Given the description of an element on the screen output the (x, y) to click on. 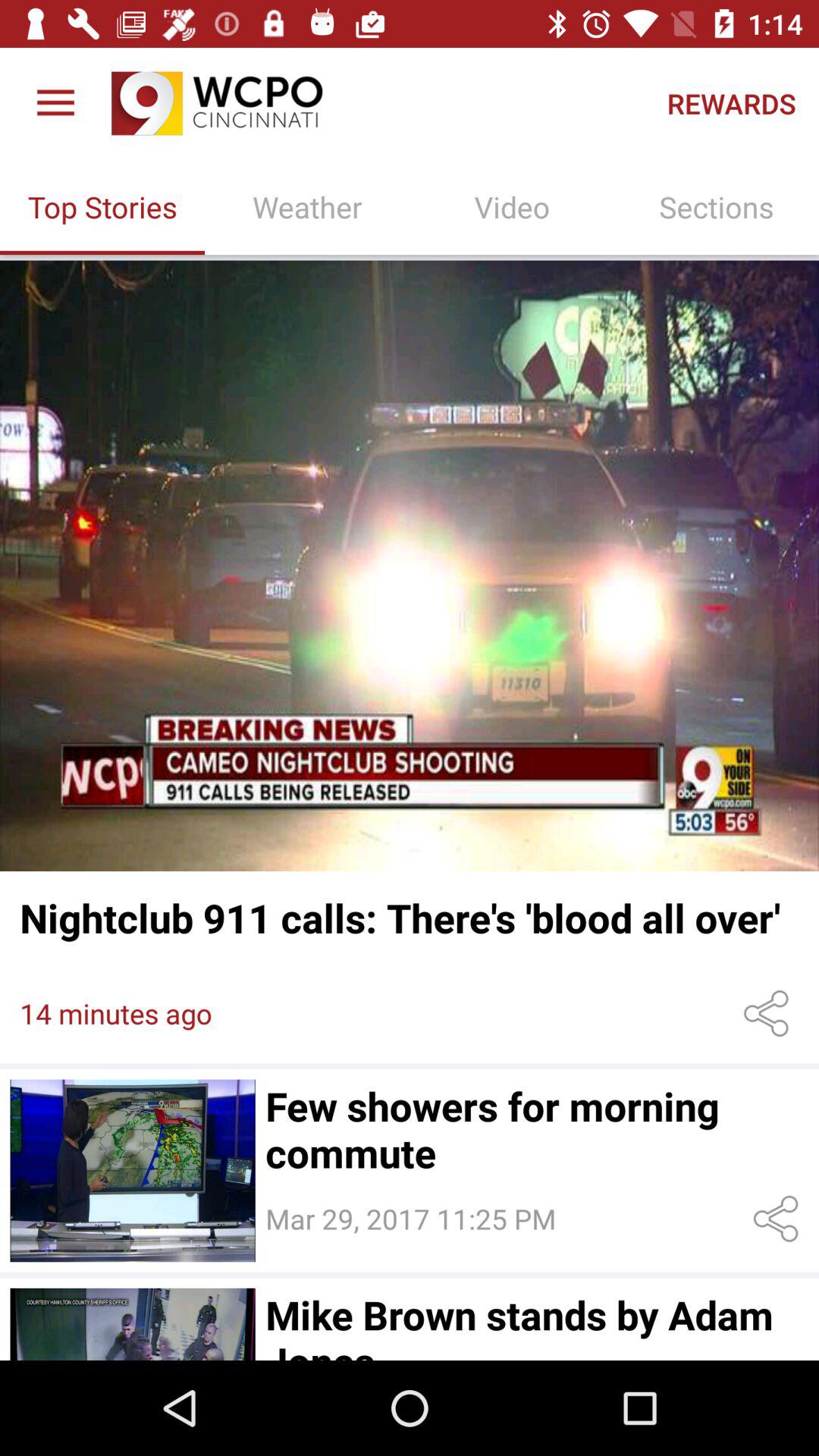
open this article (132, 1324)
